Given the description of an element on the screen output the (x, y) to click on. 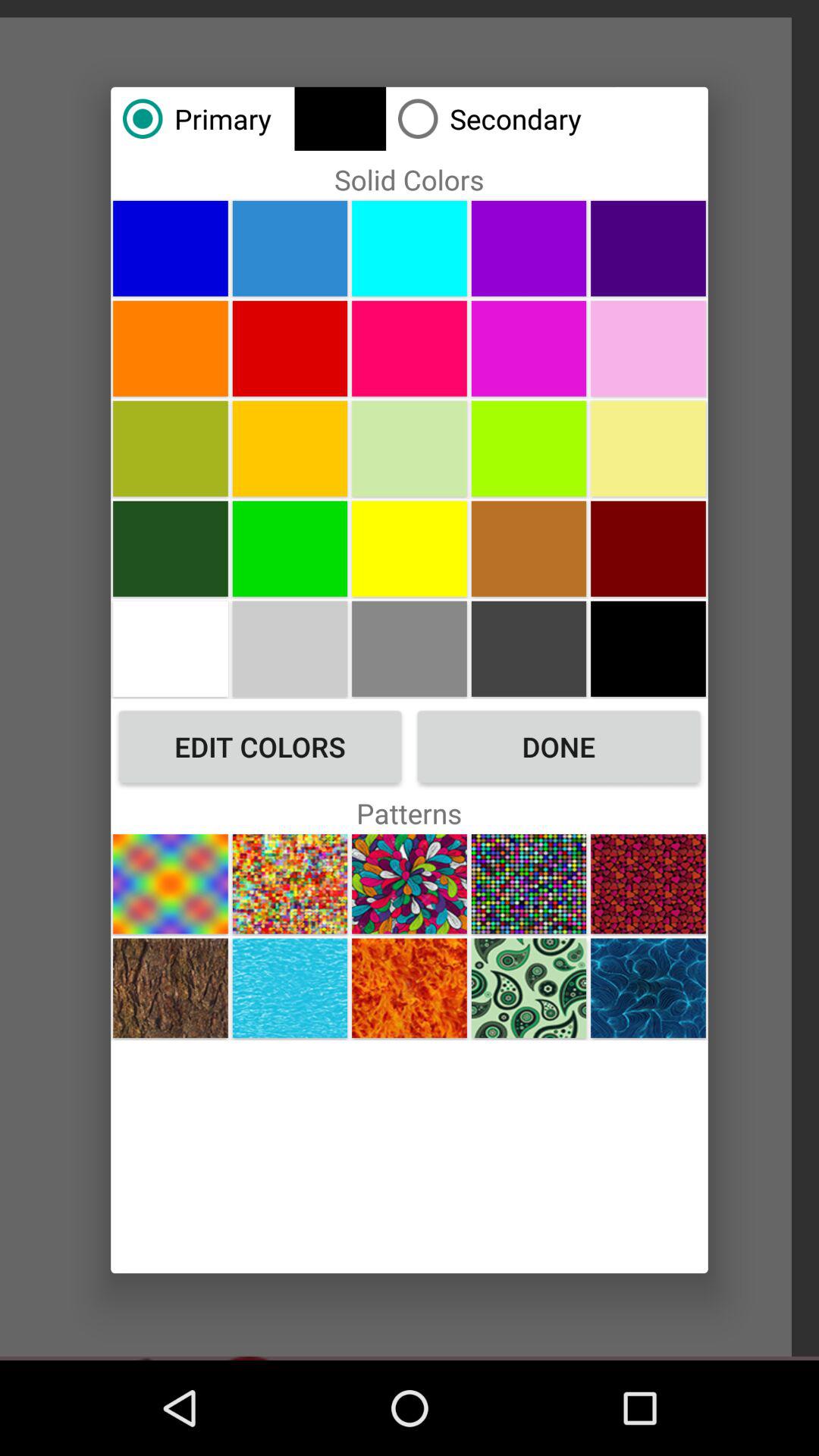
color selection (170, 248)
